Given the description of an element on the screen output the (x, y) to click on. 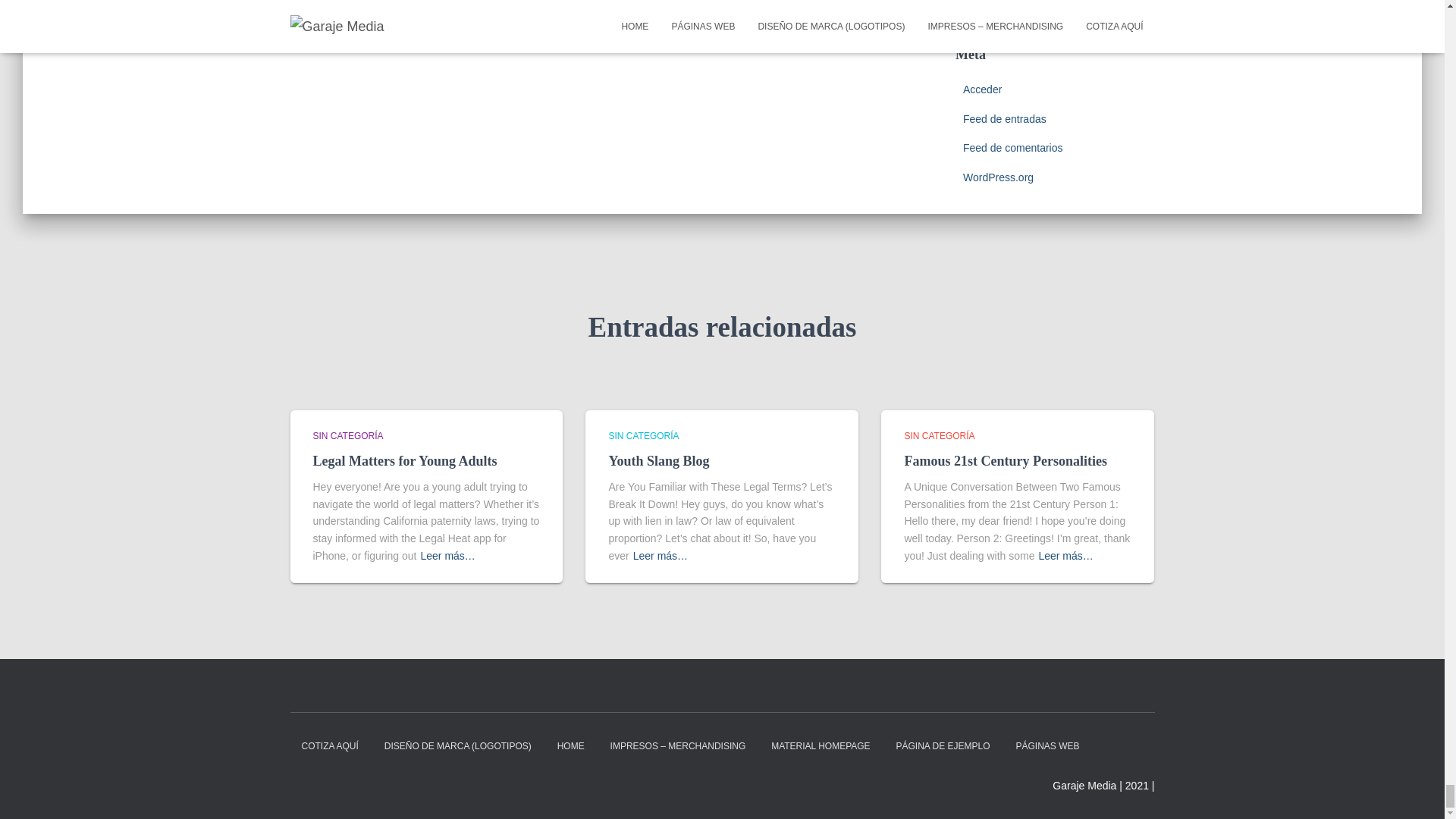
Legal Matters for Young Adults (404, 460)
Youth Slang Blog (658, 460)
Famous 21st Century Personalities (1005, 460)
